Given the description of an element on the screen output the (x, y) to click on. 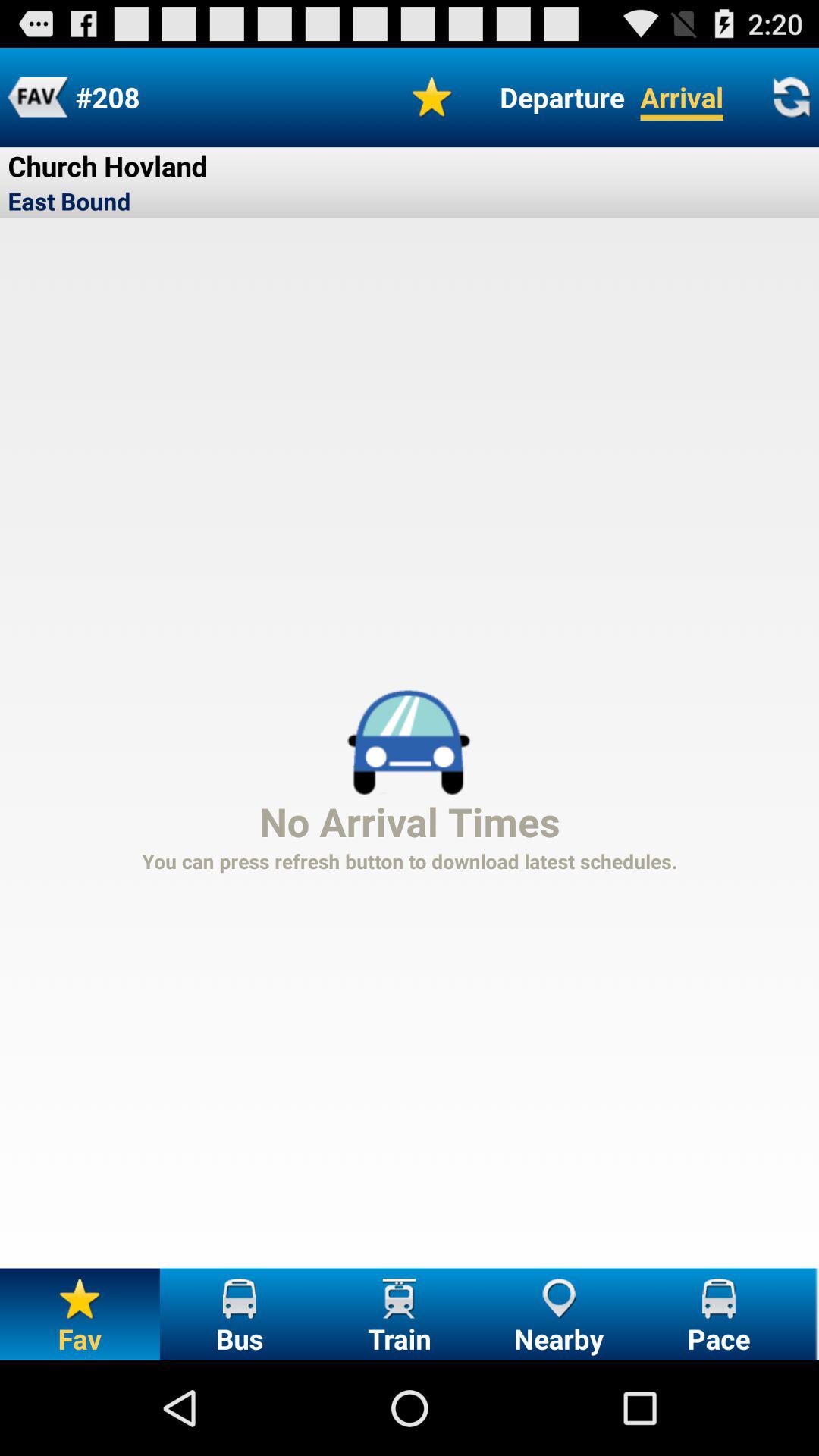
click icon at the top (432, 97)
